Given the description of an element on the screen output the (x, y) to click on. 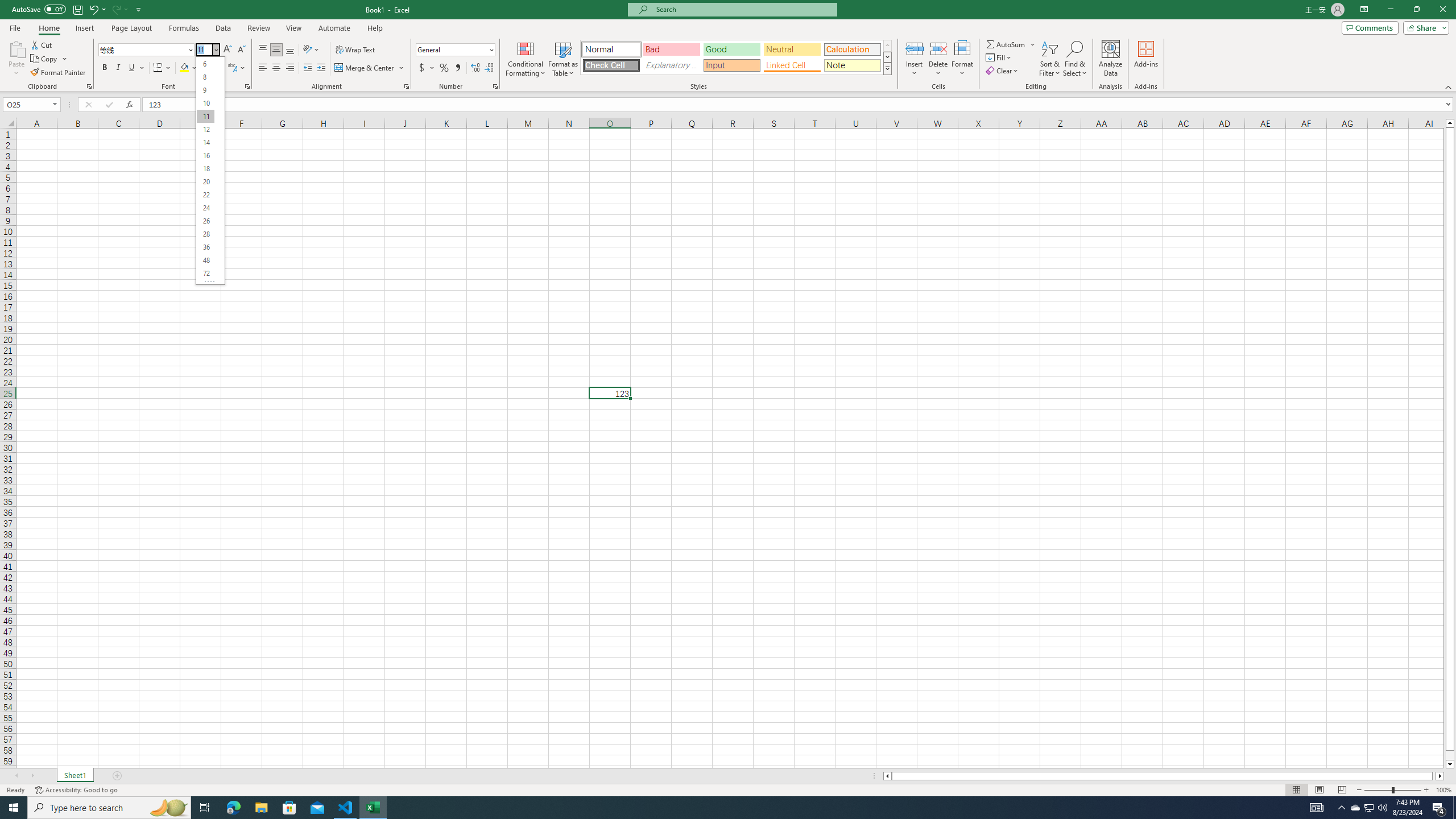
Format (962, 58)
Linked Cell (791, 65)
Bottom Border (157, 67)
18 (205, 168)
Fill Color RGB(255, 255, 0) (183, 67)
Show Phonetic Field (231, 67)
